Given the description of an element on the screen output the (x, y) to click on. 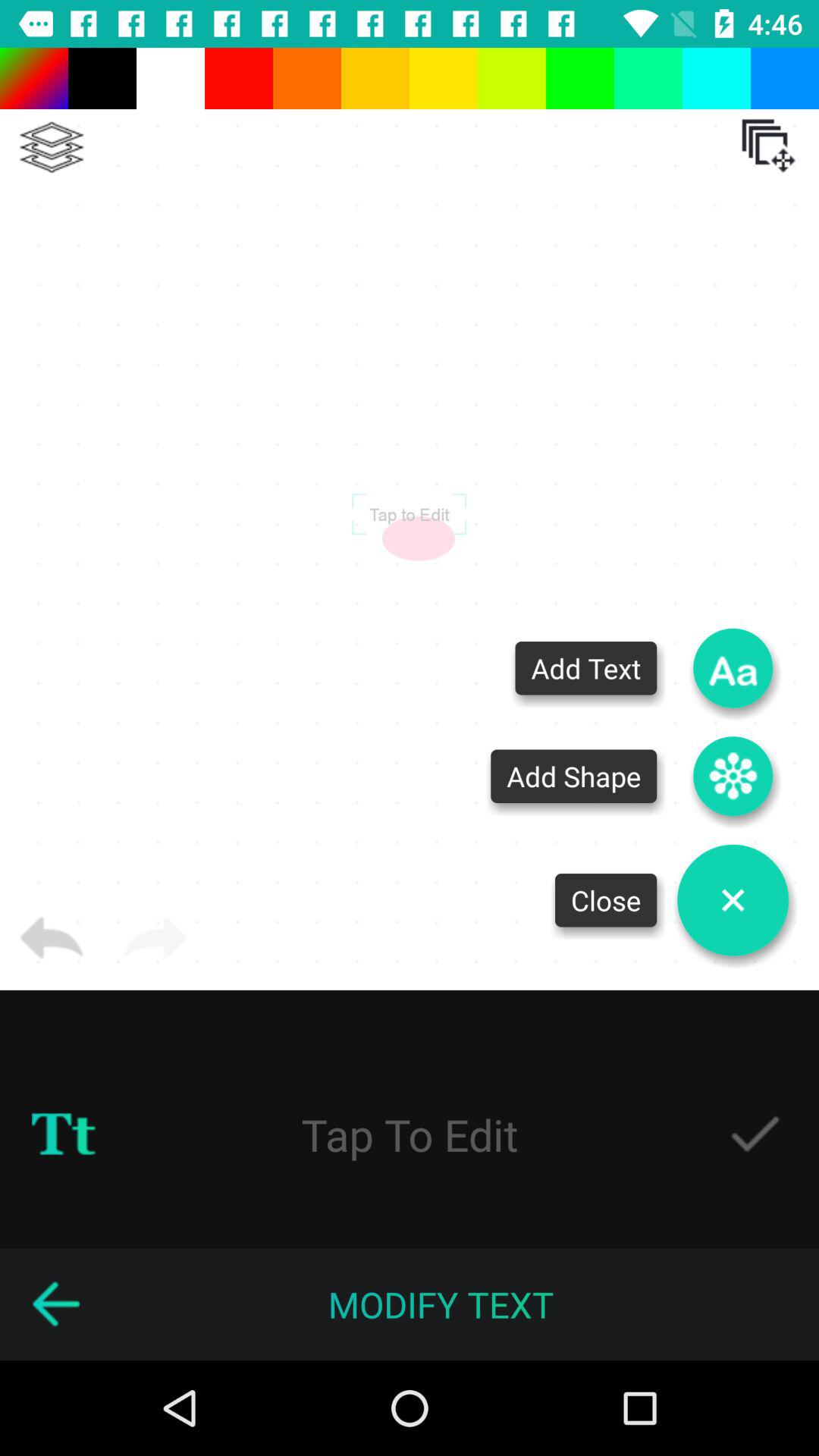
close (733, 900)
